Given the description of an element on the screen output the (x, y) to click on. 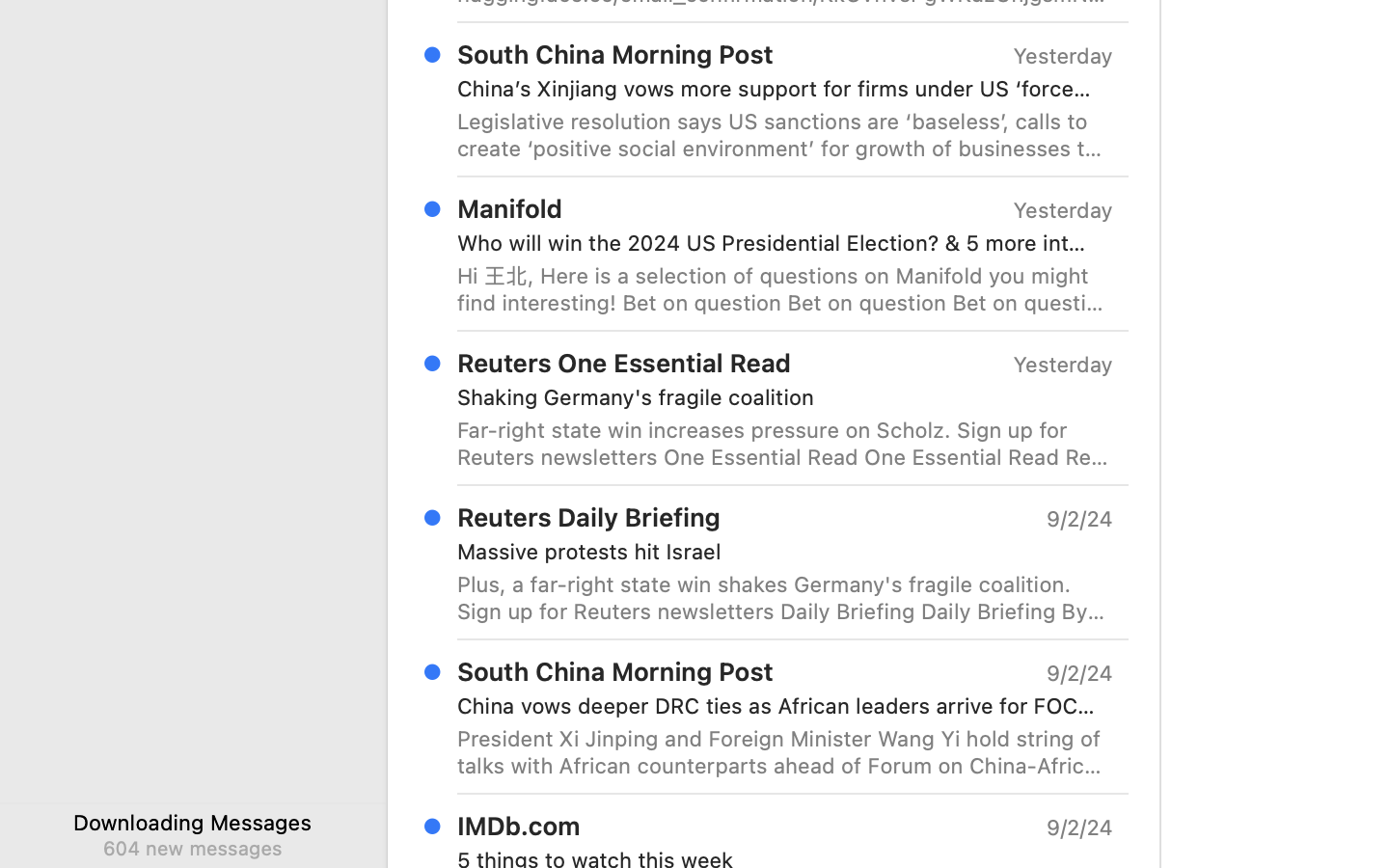
Legislative resolution says US sanctions are ‘baseless’, calls to create ‘positive social environment’ for growth of businesses targeted. - South China Morning Post, SCMP, SCMP Today: Intl Edition - Legislative resolution says US sanctions are ‘baseless’, calls to create ‘positive social environment’ for growth of businesses targeted. Tuesday 3rd September, 2024 China politics & diplomacy ChinaChina’s Xinjiang vows more support for firms under US ‘forced labour’ sanctions3 Sep, 2024 - 04:36 pmLegislative resolution says US sanctions are ‘baseless’, calls to create ‘positive social environment’ for growth of businesses targeted. China11 dead in eastern China, driver detained after bus hits crowd outside school3 Sep, 2024 - 04:43 pm ChinaChinese researchers’ implant genetically modifies brain cells for neuron growth3 Sep, 2024 - 04:06 pm Featured Podcast3. Millennials, GenZ and hire education Video Of The Day China and Singapore embark on bigger joint navy exercise as South China Sea ten Element type: AXStaticText (784, 135)
Reuters One Essential Read Element type: AXStaticText (623, 362)
Plus, a far-right state win shakes Germany's fragile coalition. Sign up for Reuters newsletters Daily Briefing Daily Briefing By Edson Caldas Frustration is mounting over Israel's failure to secure a ceasefire deal that would free hostages. Today, we cover massive protests across the country and a general strike. Elsewhere, a far-right state win shakes Germany's fragile coalition, and a Russian missile attack rocks Kyiv and other parts of Ukraine. Plus, the latest from the Paris Paralympics. Today's Top News Hundreds of thousands protested across Israel on Sunday. REUTERS/Florion Goga War in Gaza Municipal services in several Israeli districts were disrupted today after the country's biggest labor union launched a general strike to pressure Prime Minister Benjamin Netanyahu into agreeing to a deal to bring Israeli hostages in Gaza home. Over the weekend, massive protests swept the country following the death of six hostages in Gaza. Crowds estimated by Israeli media to number up to 500 Element type: AXStaticText (784, 597)
Yesterday Element type: AXStaticText (1062, 209)
South China Morning Post Element type: AXStaticText (615, 53)
